Given the description of an element on the screen output the (x, y) to click on. 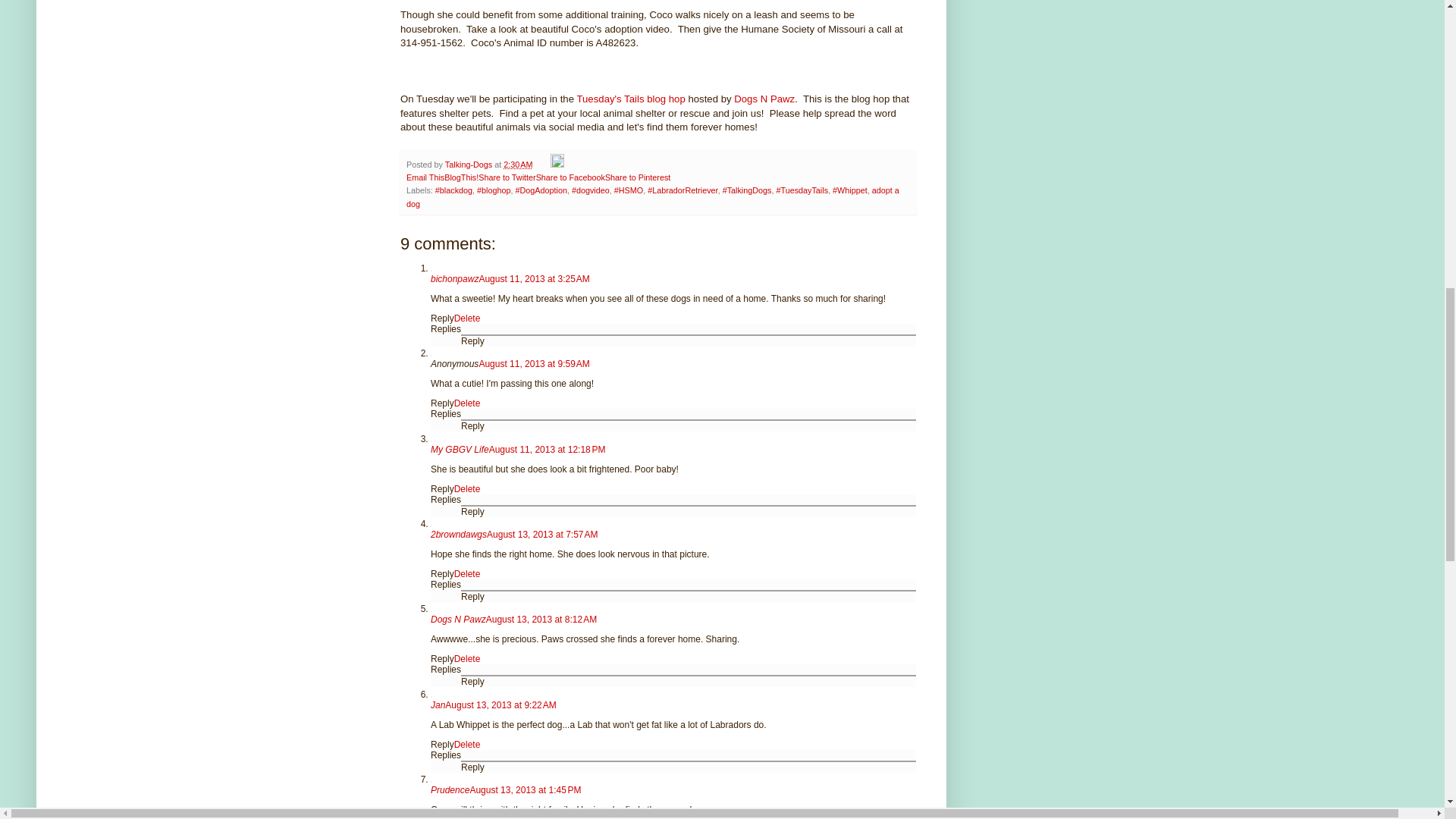
permanent link (517, 163)
Share to Facebook (570, 176)
Talking-Dogs (470, 163)
Share to Twitter (507, 176)
author profile (470, 163)
Dogs N Pawz (763, 98)
adopt a dog (652, 196)
BlogThis! (461, 176)
Email This (425, 176)
